Given the description of an element on the screen output the (x, y) to click on. 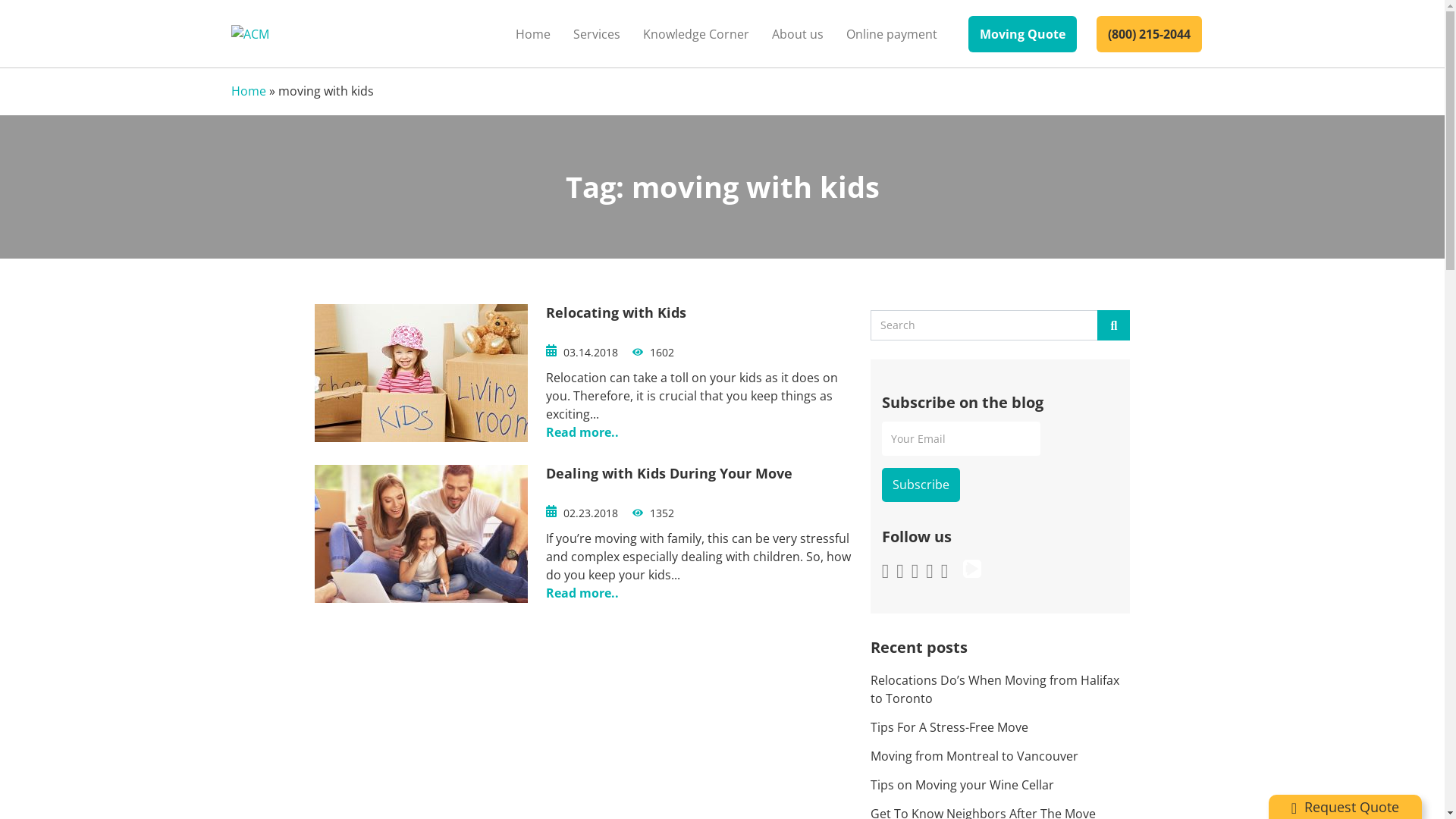
Moving Quote Element type: text (1021, 33)
Relocating with Kids Element type: text (616, 312)
Search Element type: text (1113, 325)
Moving from Montreal to Vancouver Element type: text (1000, 755)
Tips For A Stress-Free Move Element type: text (1000, 727)
Online payment Element type: text (890, 33)
Home Element type: text (532, 33)
Tips on Moving your Wine Cellar Element type: text (1000, 784)
Knowledge Corner Element type: text (694, 33)
Dealing with Kids During Your Move Element type: text (669, 473)
Read more.. Element type: text (582, 592)
Read more.. Element type: text (582, 431)
Home Element type: text (247, 90)
About us Element type: text (796, 33)
Subscribe Element type: text (920, 484)
(800) 215-2044 Element type: text (1148, 33)
Services Element type: text (595, 33)
